Given the description of an element on the screen output the (x, y) to click on. 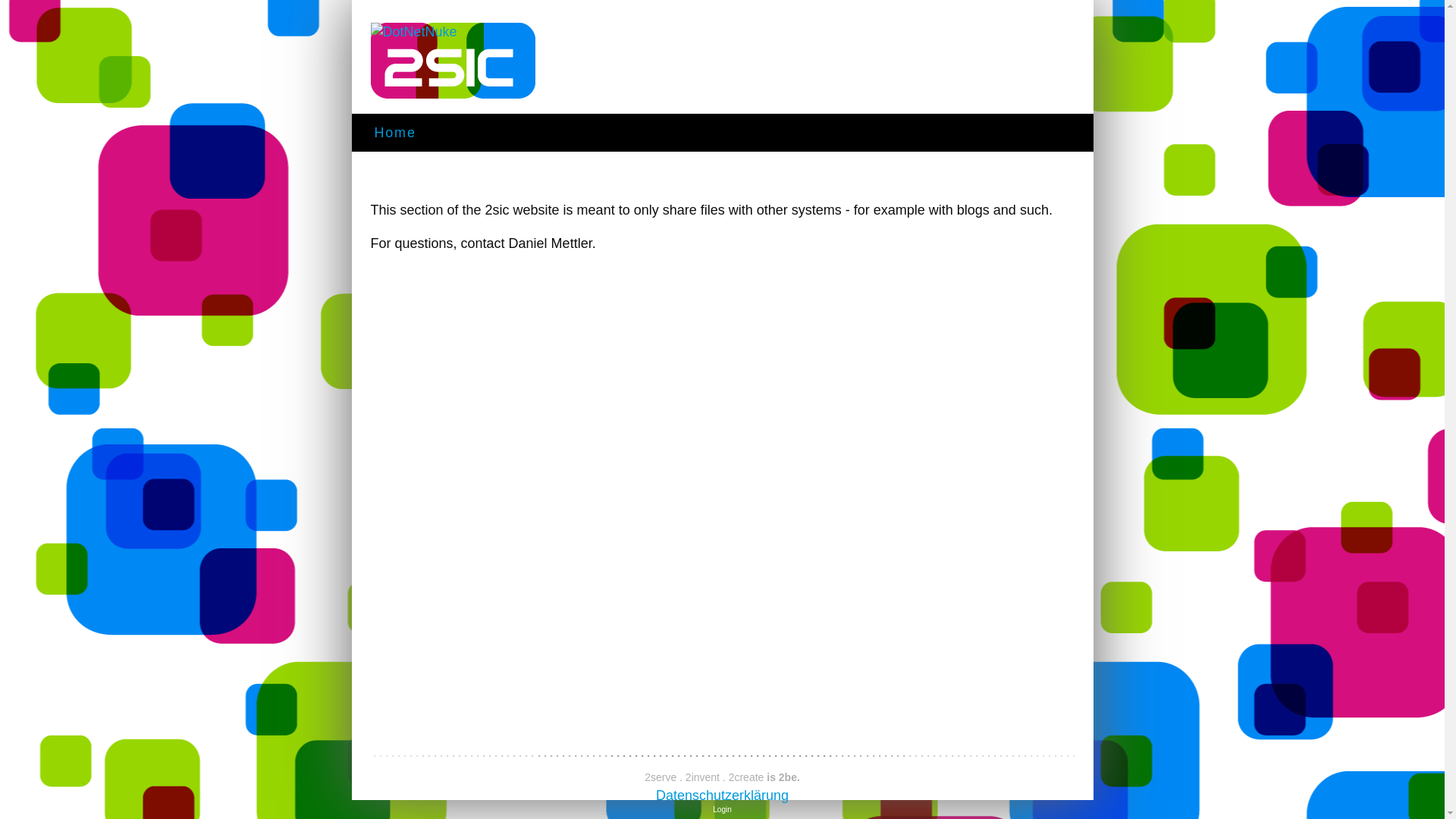
DotNetNuke Element type: hover (452, 60)
Home Element type: text (395, 137)
